Given the description of an element on the screen output the (x, y) to click on. 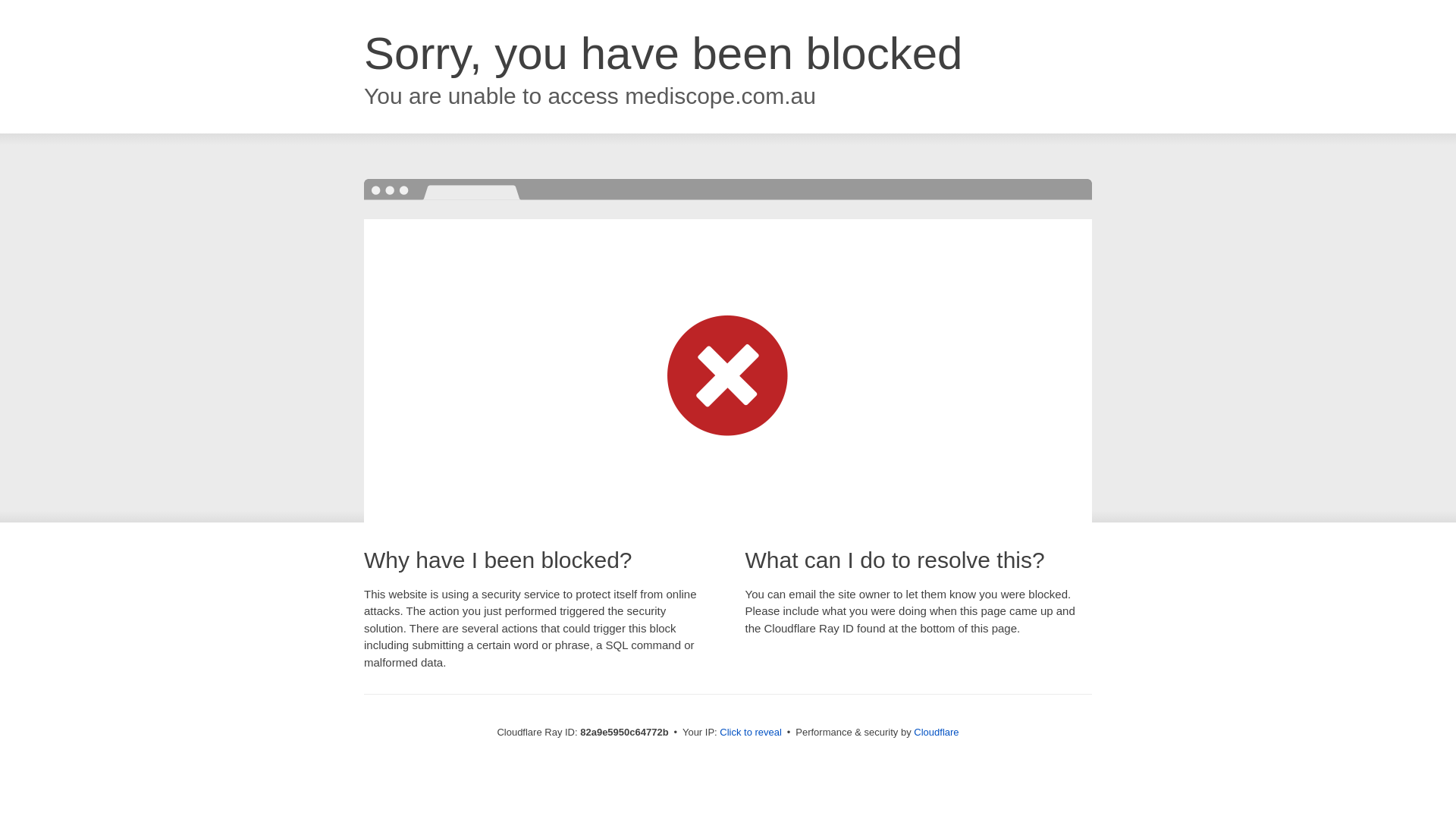
Cloudflare Element type: text (935, 731)
Click to reveal Element type: text (750, 732)
